Given the description of an element on the screen output the (x, y) to click on. 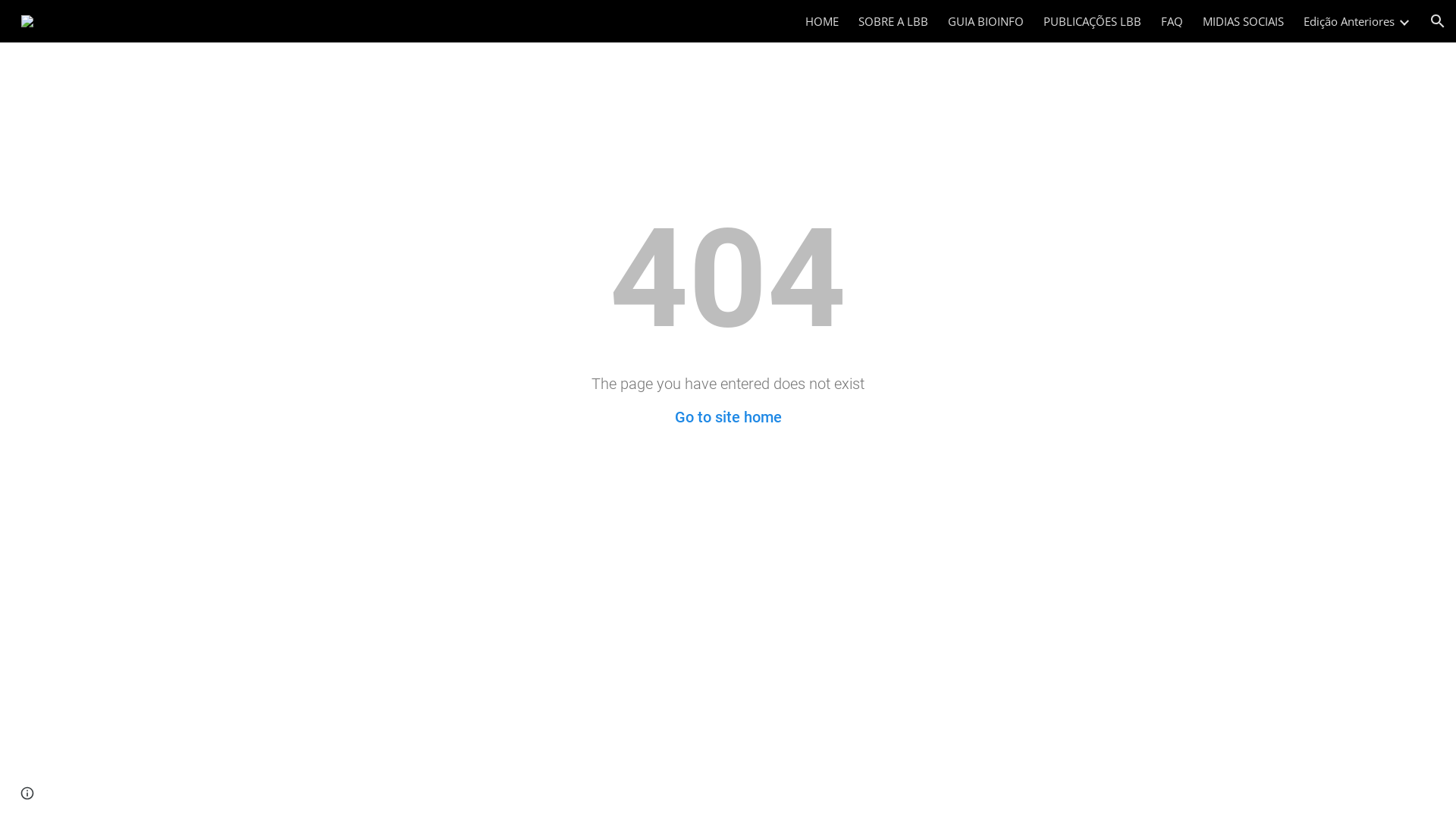
Expand/Collapse Element type: hover (1403, 20)
SOBRE A LBB Element type: text (893, 20)
Go to site home Element type: text (727, 416)
FAQ Element type: text (1172, 20)
HOME Element type: text (821, 20)
MIDIAS SOCIAIS Element type: text (1242, 20)
GUIA BIOINFO Element type: text (985, 20)
